Given the description of an element on the screen output the (x, y) to click on. 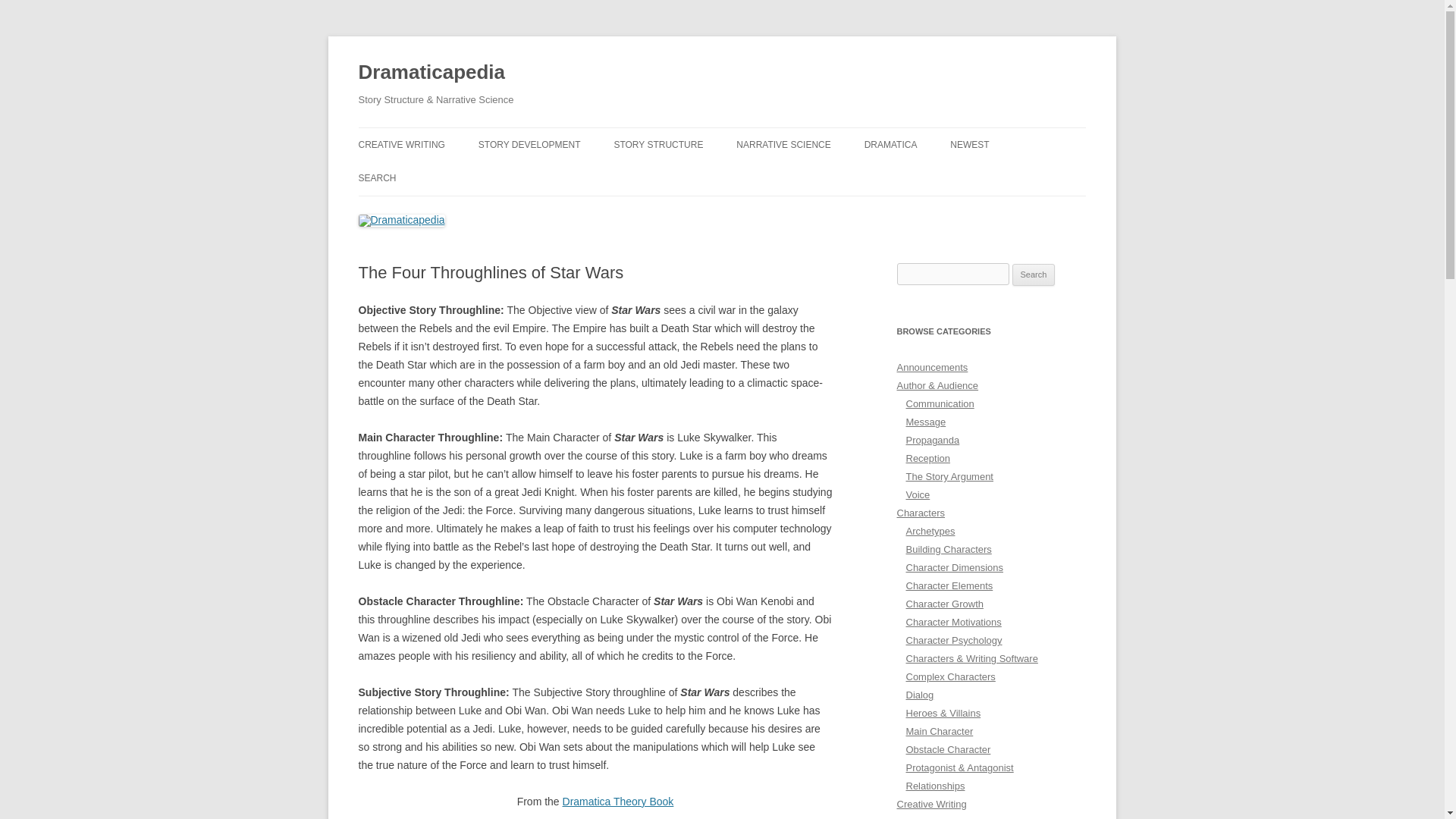
Search (1033, 274)
Search (1033, 274)
MOST POPULAR ARTICLES (433, 176)
DRAMATICA (890, 144)
SEARCH (377, 177)
MOST POPULAR ARTICLES (688, 176)
STORY DEVELOPMENT (529, 144)
Dramatica Theory Book (618, 801)
